Given the description of an element on the screen output the (x, y) to click on. 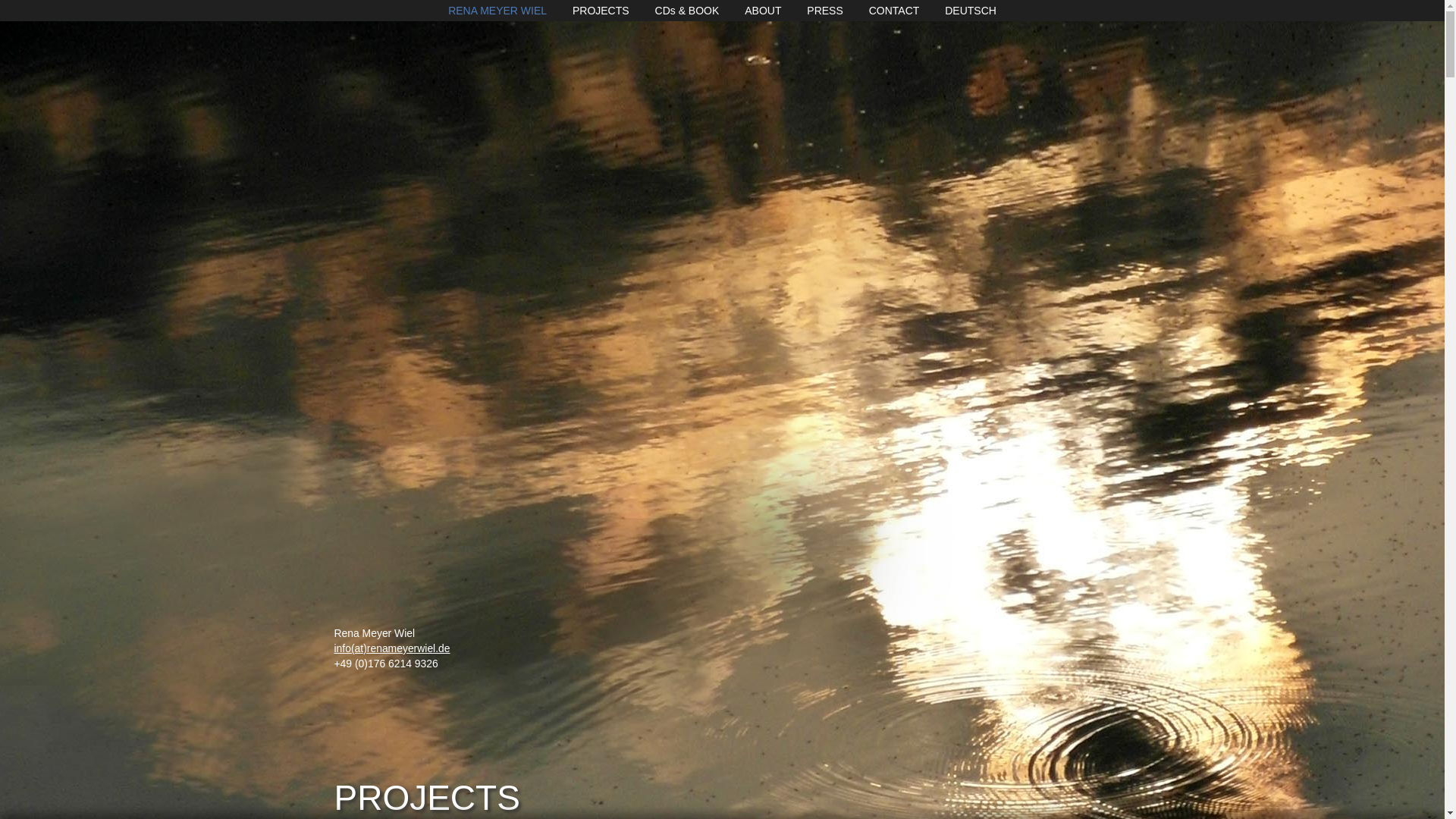
PROJECTS (600, 10)
RENA MEYER WIEL (497, 10)
CONTACT (894, 10)
ABOUT (762, 10)
PRESS (824, 10)
DEUTSCH (969, 10)
